Given the description of an element on the screen output the (x, y) to click on. 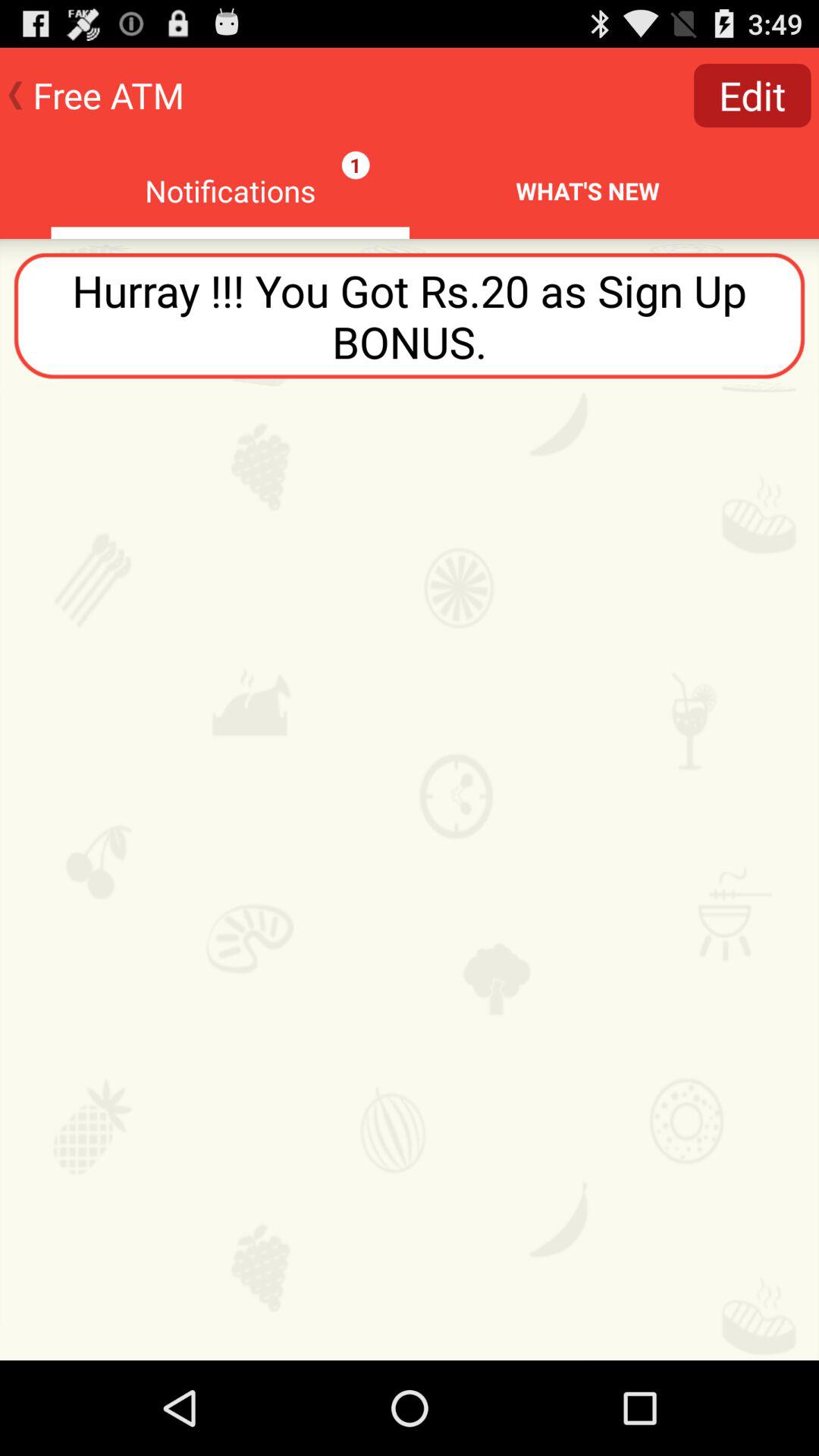
choose icon below the notifications icon (409, 315)
